Given the description of an element on the screen output the (x, y) to click on. 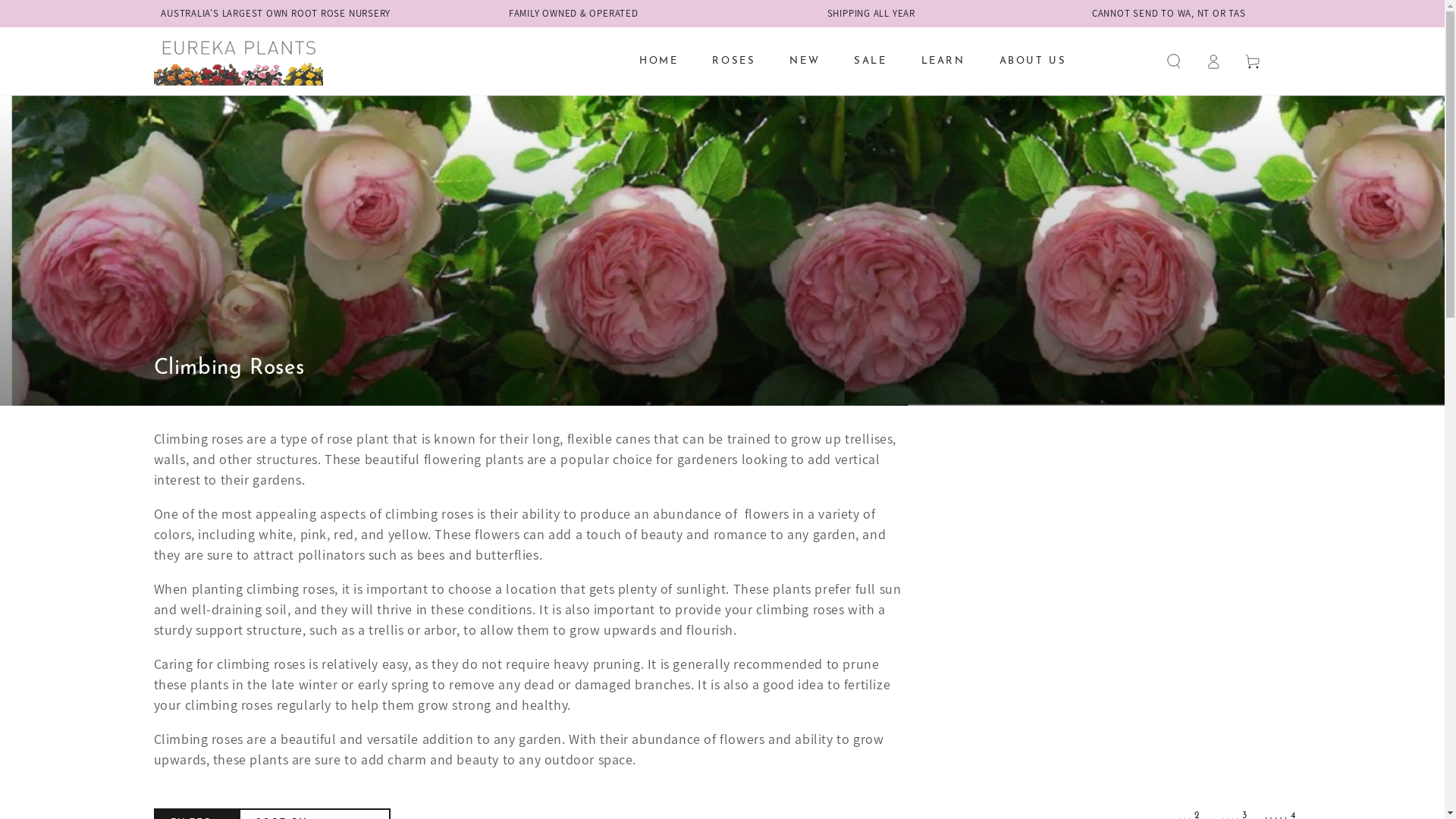
AUSTRALIA'S LARGEST OWN ROOT ROSE NURSERY Element type: text (275, 13)
NEW Element type: text (804, 60)
ABOUT US Element type: text (1033, 60)
HOME Element type: text (658, 60)
Log in Element type: text (1213, 61)
SALE Element type: text (869, 60)
FAMILY OWNED & OPERATED Element type: text (573, 13)
CANNOT SEND TO WA, NT OR TAS Element type: text (1168, 13)
SHIPPING ALL YEAR Element type: text (871, 13)
